Given the description of an element on the screen output the (x, y) to click on. 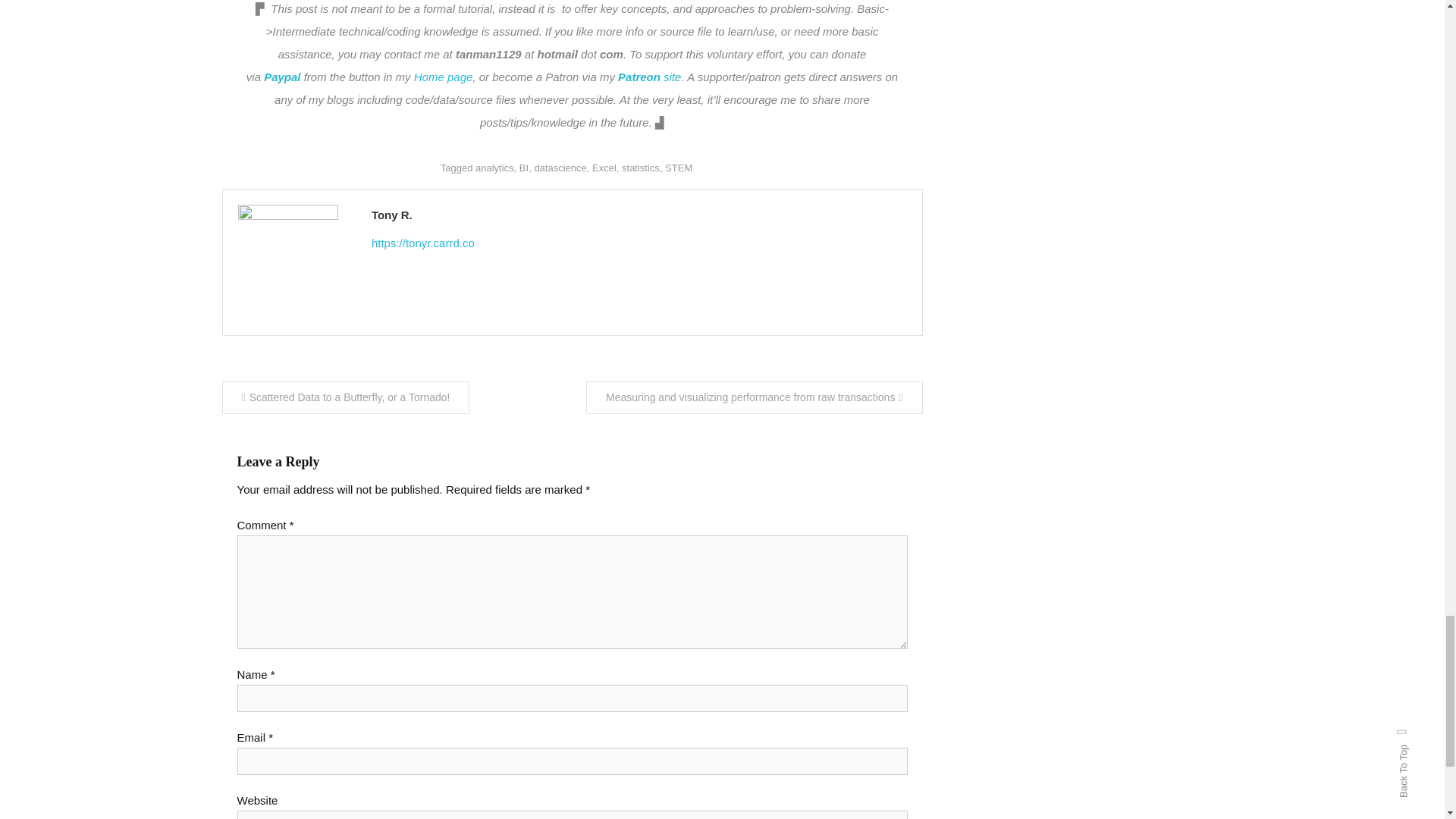
Tony R. (639, 214)
datascience (560, 167)
statistics (640, 167)
Measuring and visualizing performance from raw transactions (753, 397)
Excel (603, 167)
Home page (443, 76)
BI (523, 167)
analytics (494, 167)
STEM (679, 167)
Scattered Data to a Butterfly, or a Tornado! (344, 397)
Patreon site (649, 76)
Paypal  (283, 76)
